Given the description of an element on the screen output the (x, y) to click on. 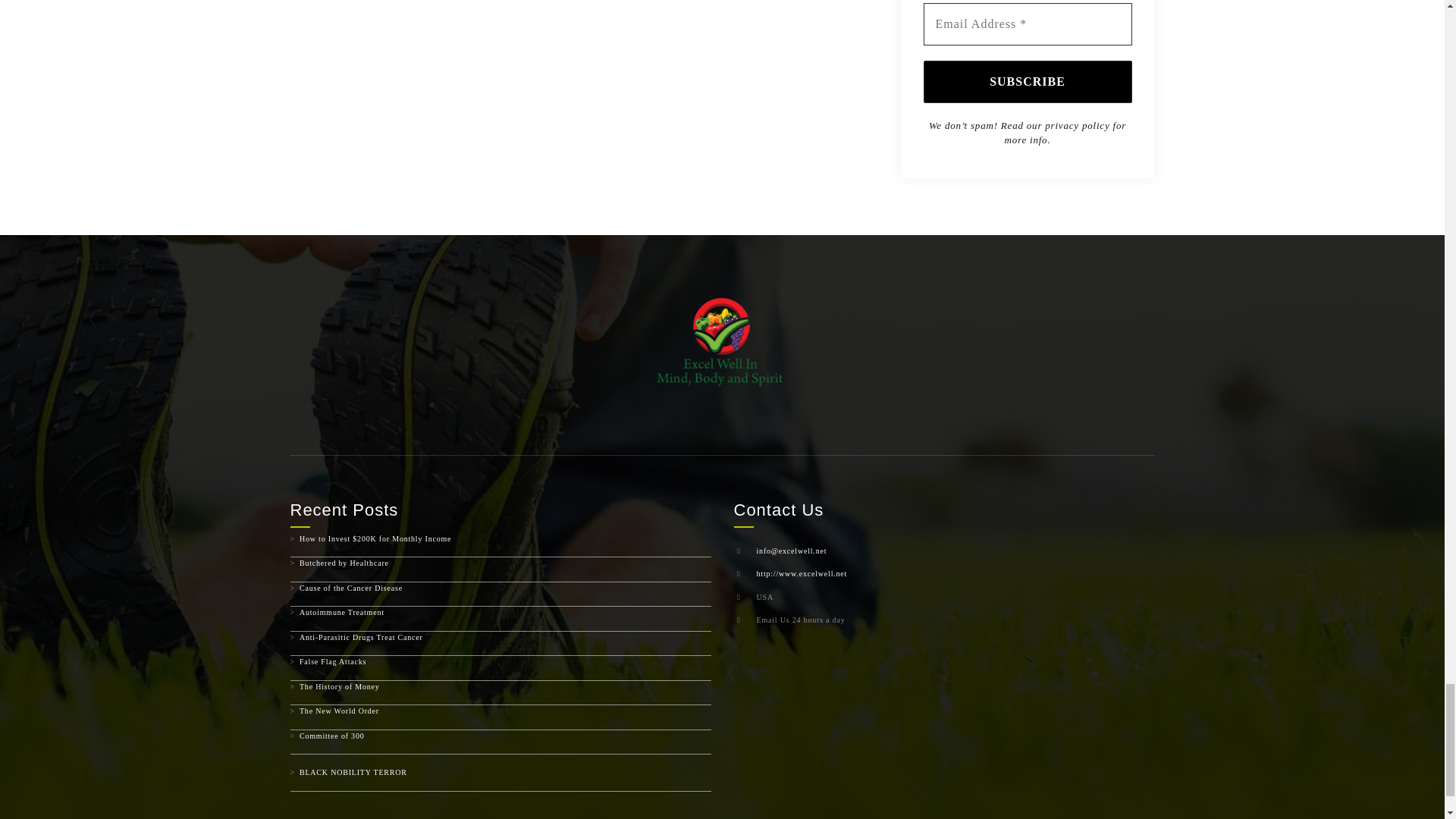
SUBSCRIBE (1027, 81)
